Given the description of an element on the screen output the (x, y) to click on. 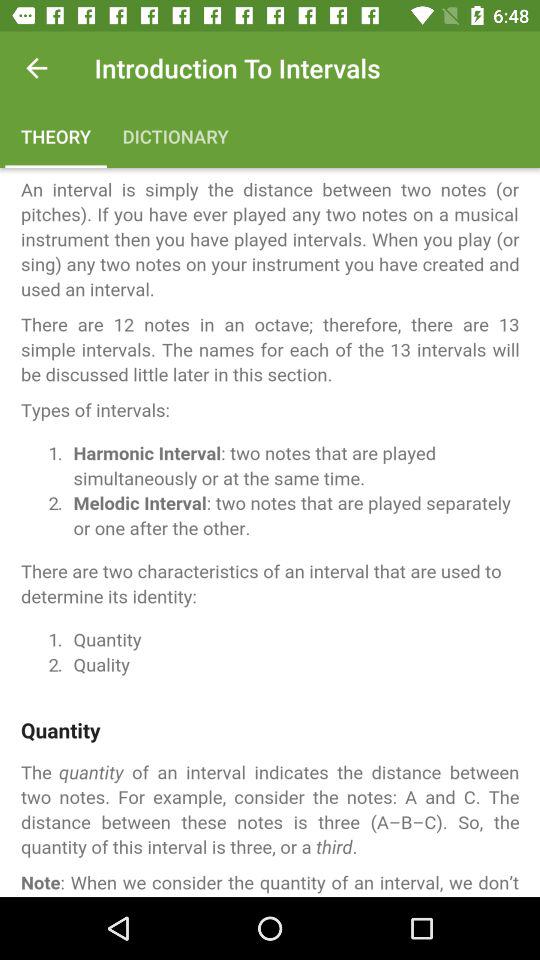
learning information area (270, 532)
